Given the description of an element on the screen output the (x, y) to click on. 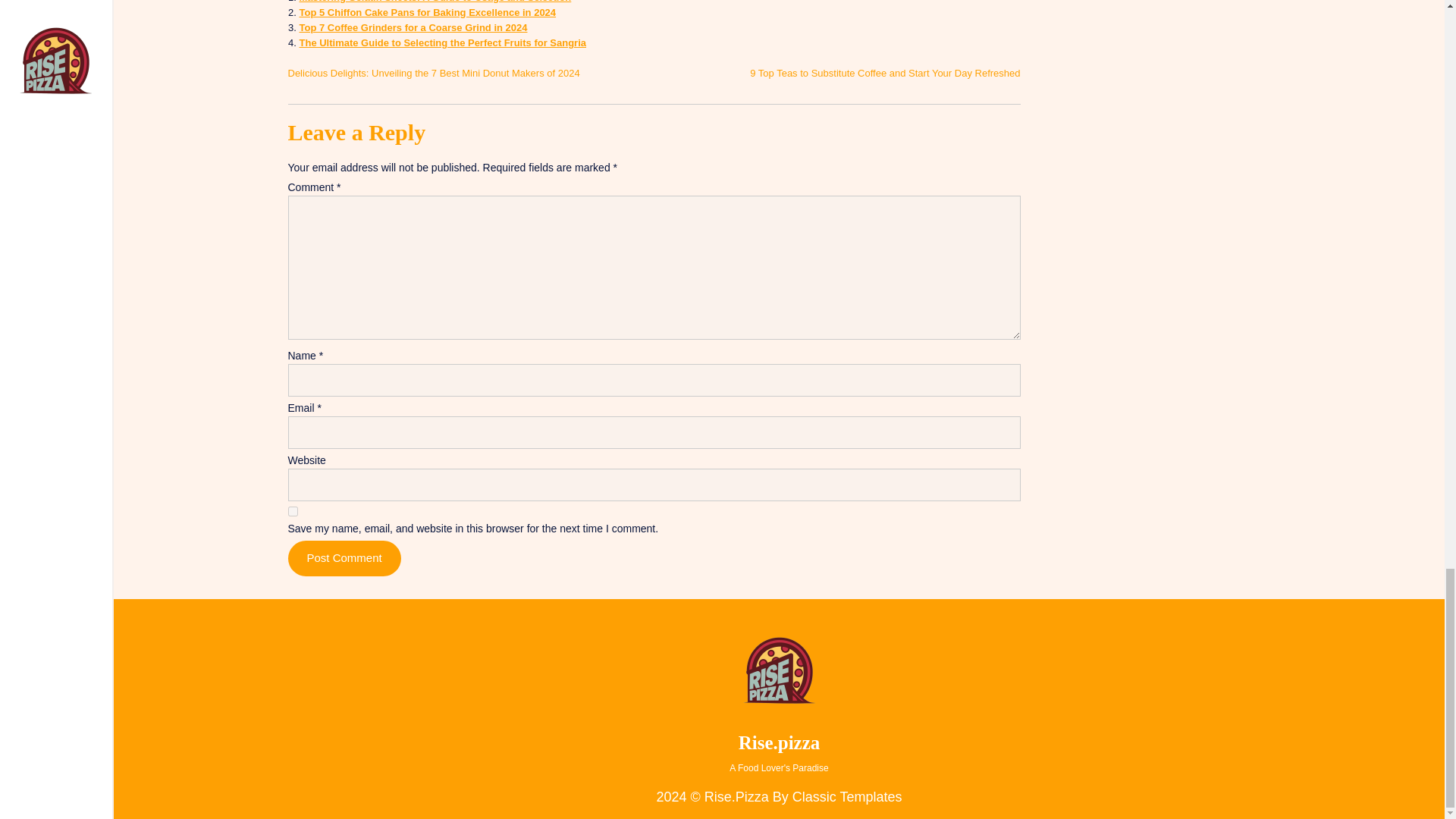
Post Comment (344, 558)
Mastering Gelatin Sheets: A Guide to Usage and Selection (434, 1)
9 Top Teas to Substitute Coffee and Start Your Day Refreshed (884, 72)
Top 7 Coffee Grinders for a Coarse Grind in 2024 (412, 27)
yes (293, 511)
Top 5 Chiffon Cake Pans for Baking Excellence in 2024 (427, 12)
Post Comment (344, 558)
